Given the description of an element on the screen output the (x, y) to click on. 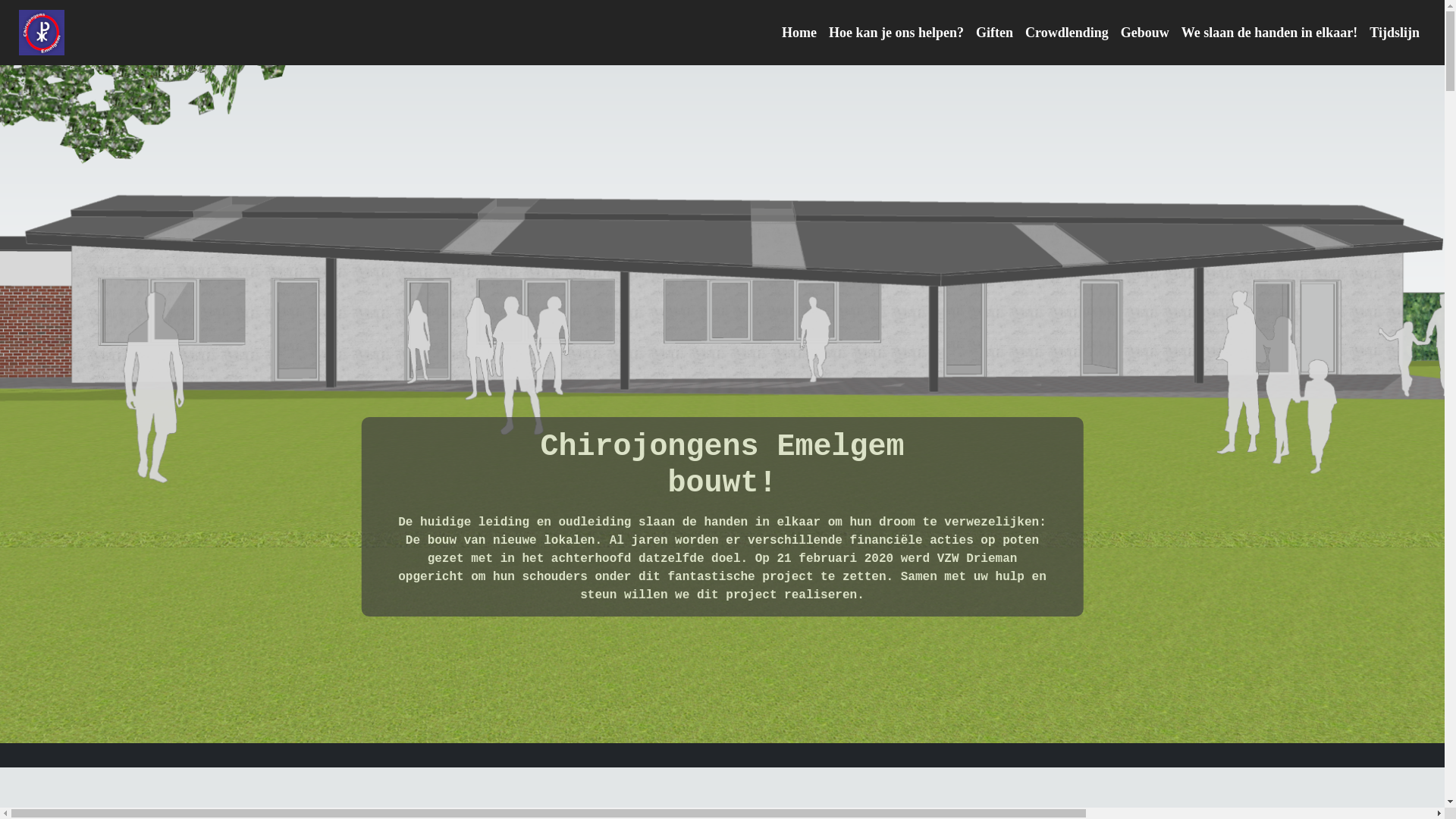
Crowdlending Element type: text (1066, 32)
Tijdslijn Element type: text (1394, 32)
We slaan de handen in elkaar! Element type: text (1269, 32)
Gebouw Element type: text (1144, 32)
Home Element type: text (798, 32)
Hoe kan je ons helpen? Element type: text (895, 32)
Giften Element type: text (994, 32)
